Given the description of an element on the screen output the (x, y) to click on. 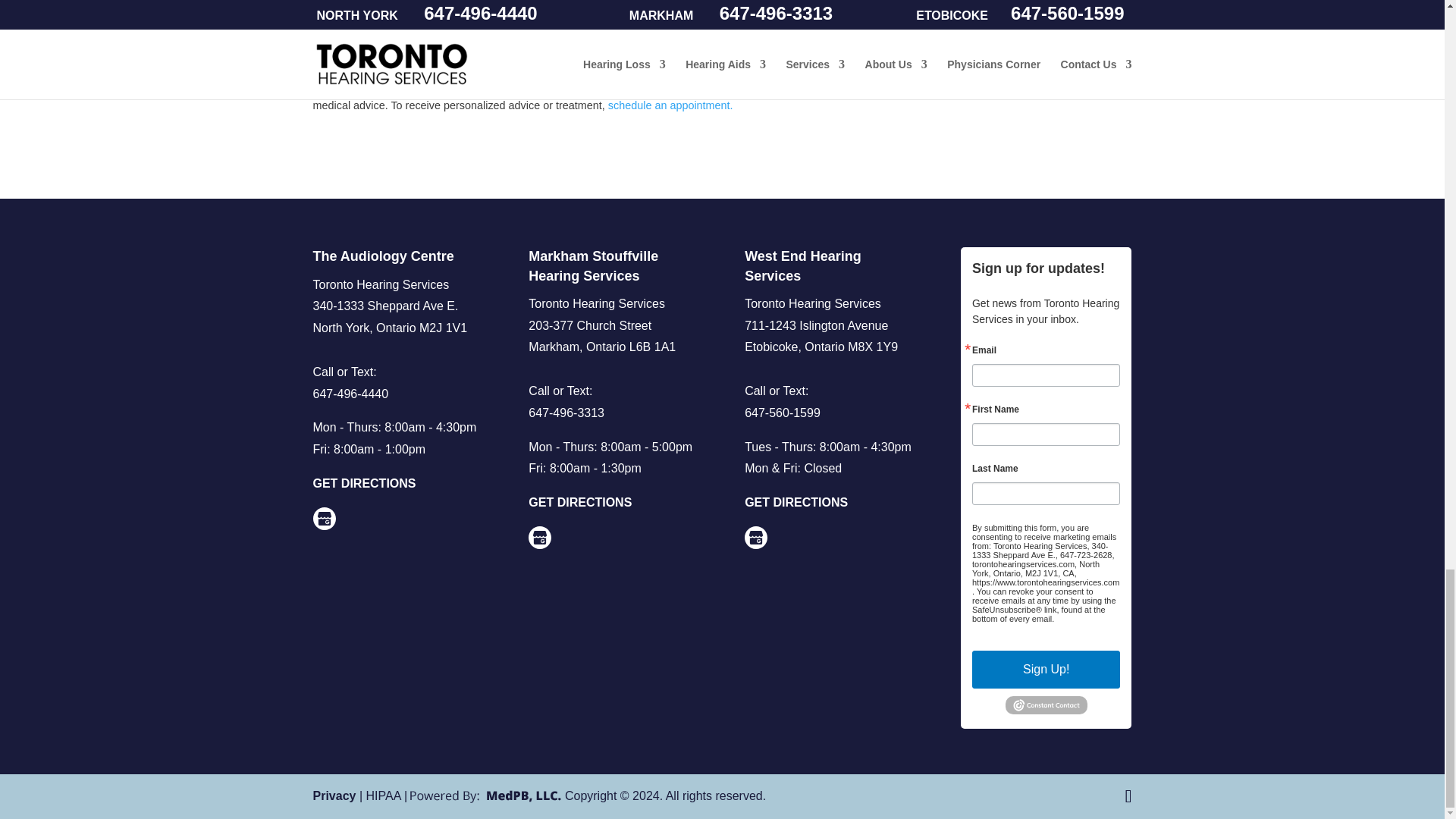
MedPB: Medical Practice Building, Marketing, Websites (485, 795)
